Given the description of an element on the screen output the (x, y) to click on. 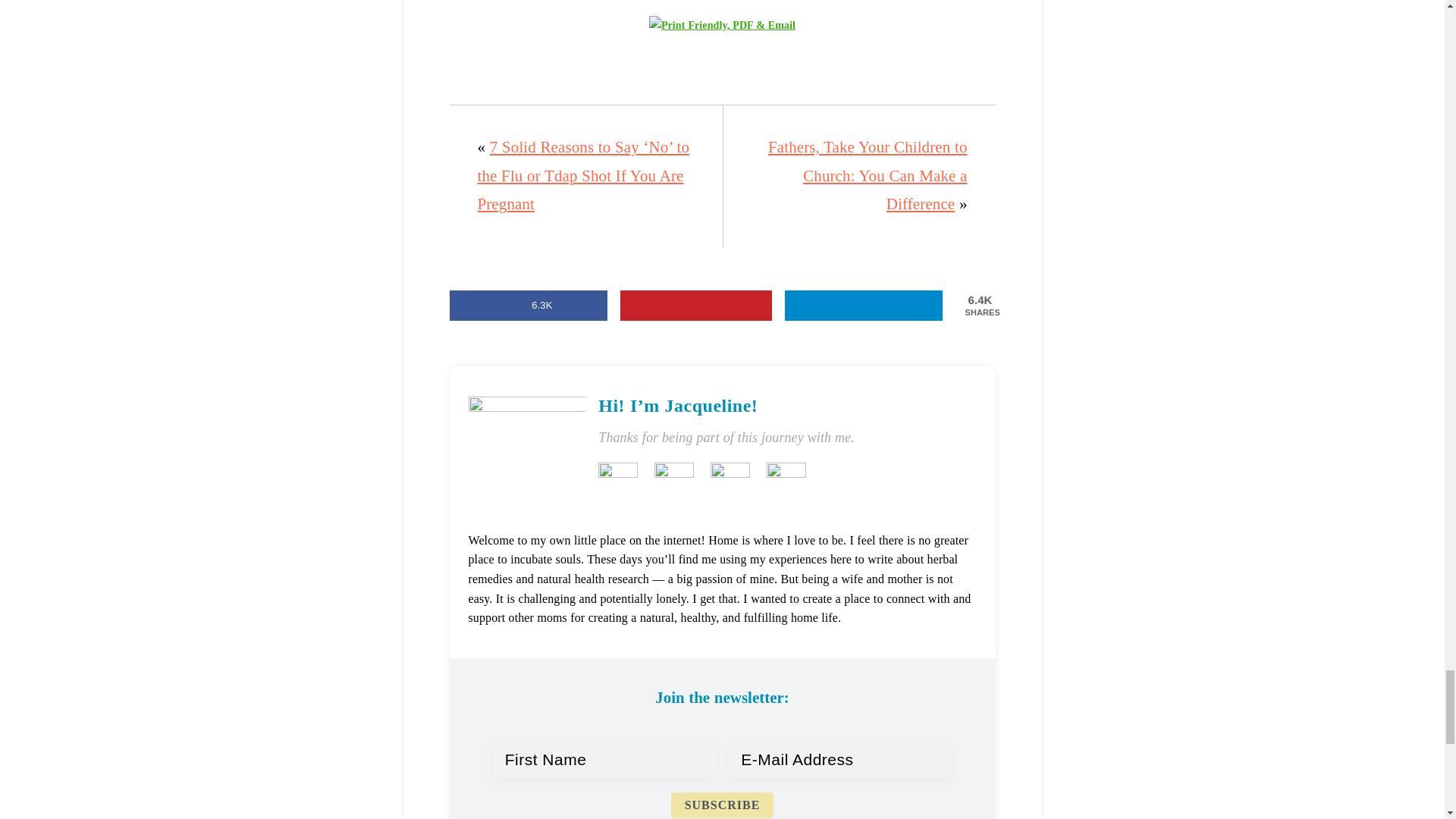
SUBSCRIBE (722, 805)
Save to Pinterest (695, 305)
Share on Facebook (527, 305)
Share on Telegram (863, 305)
